Given the description of an element on the screen output the (x, y) to click on. 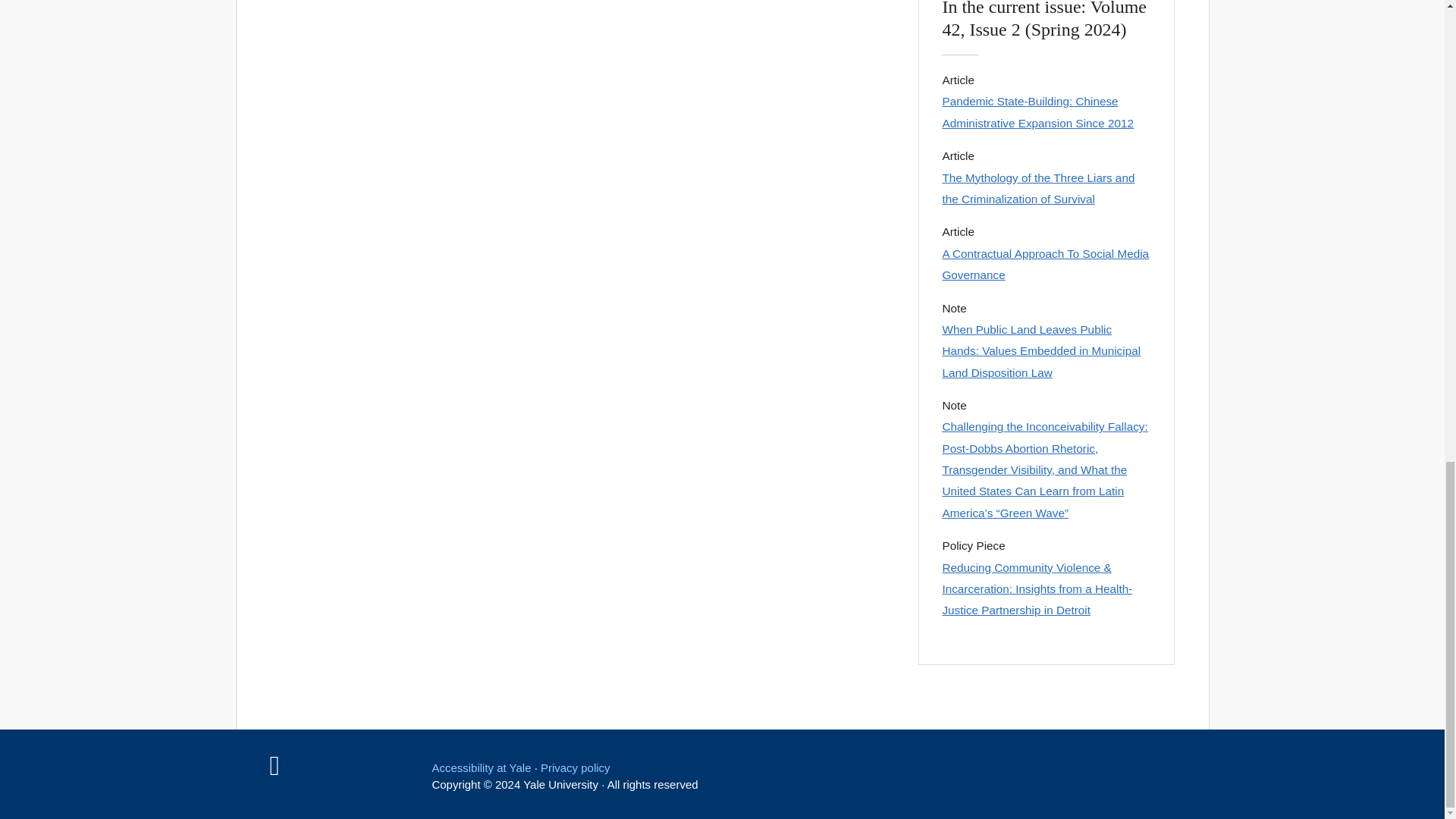
Privacy policy (575, 766)
Accessibility at Yale (480, 766)
A Contractual Approach To Social Media Governance (1046, 264)
